Given the description of an element on the screen output the (x, y) to click on. 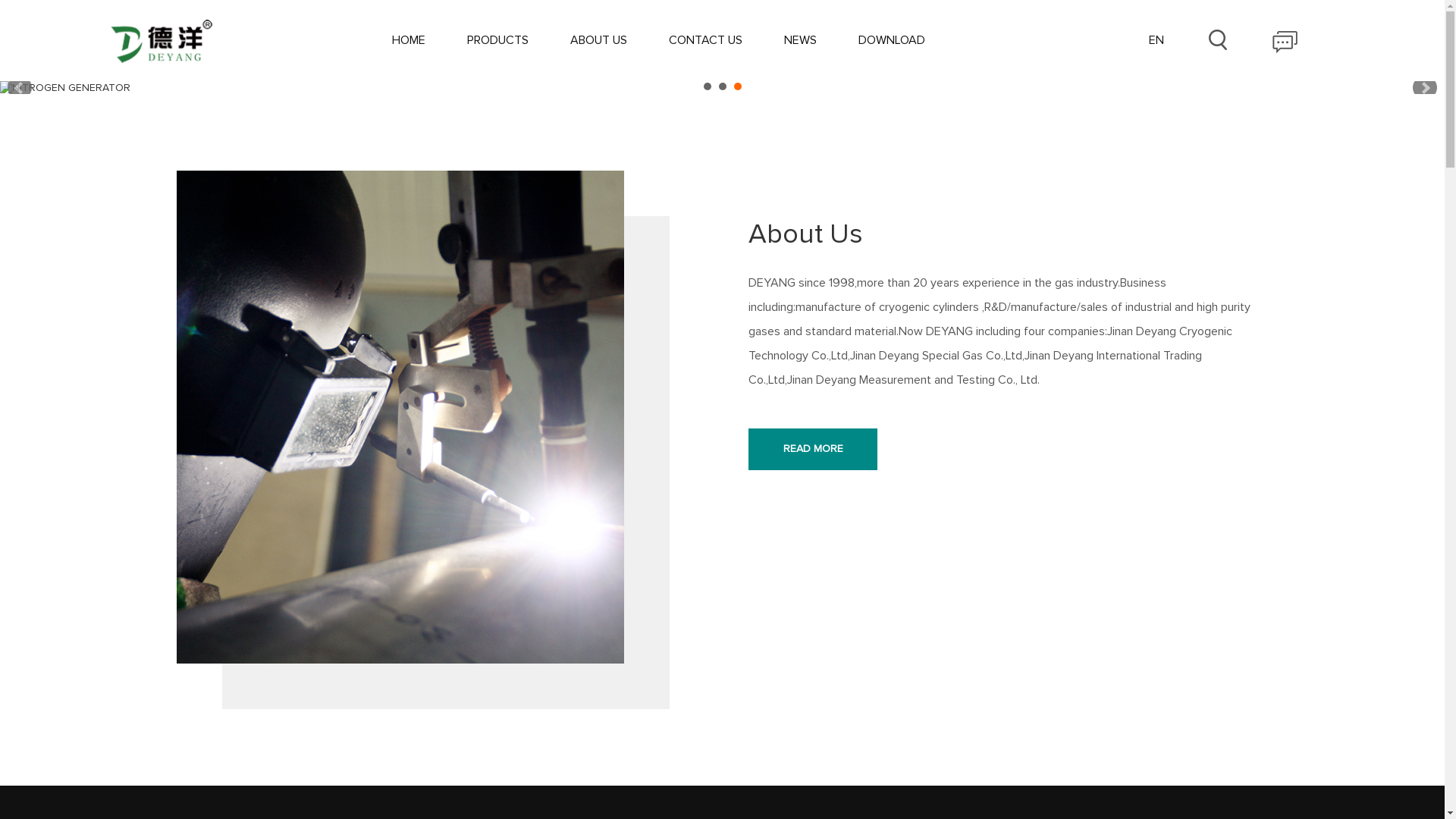
PRODUCTS Element type: text (497, 39)
2 Element type: text (722, 733)
DOWNLOAD Element type: text (891, 39)
Prev Element type: text (19, 424)
HOME Element type: text (408, 39)
CONTACT US Element type: text (705, 39)
3 Element type: text (737, 733)
NEWS Element type: text (800, 39)
1 Element type: text (707, 733)
ABOUT US Element type: text (598, 39)
Next Element type: text (1424, 424)
